Given the description of an element on the screen output the (x, y) to click on. 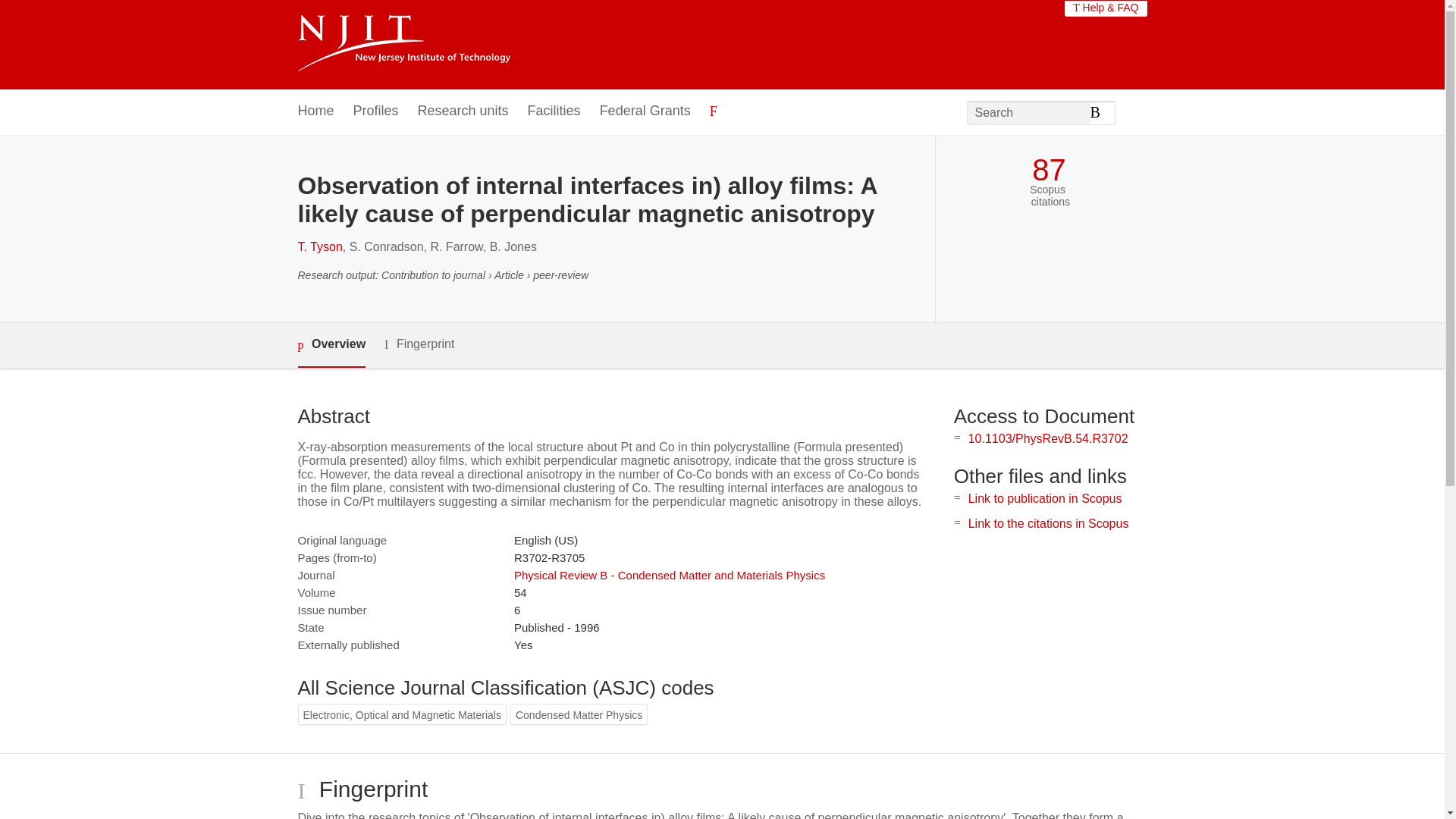
T. Tyson (319, 246)
Profiles (375, 111)
Research units (462, 111)
New Jersey Institute of Technology Home (403, 44)
Overview (331, 344)
Link to publication in Scopus (1045, 498)
Federal Grants (644, 111)
Physical Review B - Condensed Matter and Materials Physics (669, 574)
Fingerprint (419, 344)
